Given the description of an element on the screen output the (x, y) to click on. 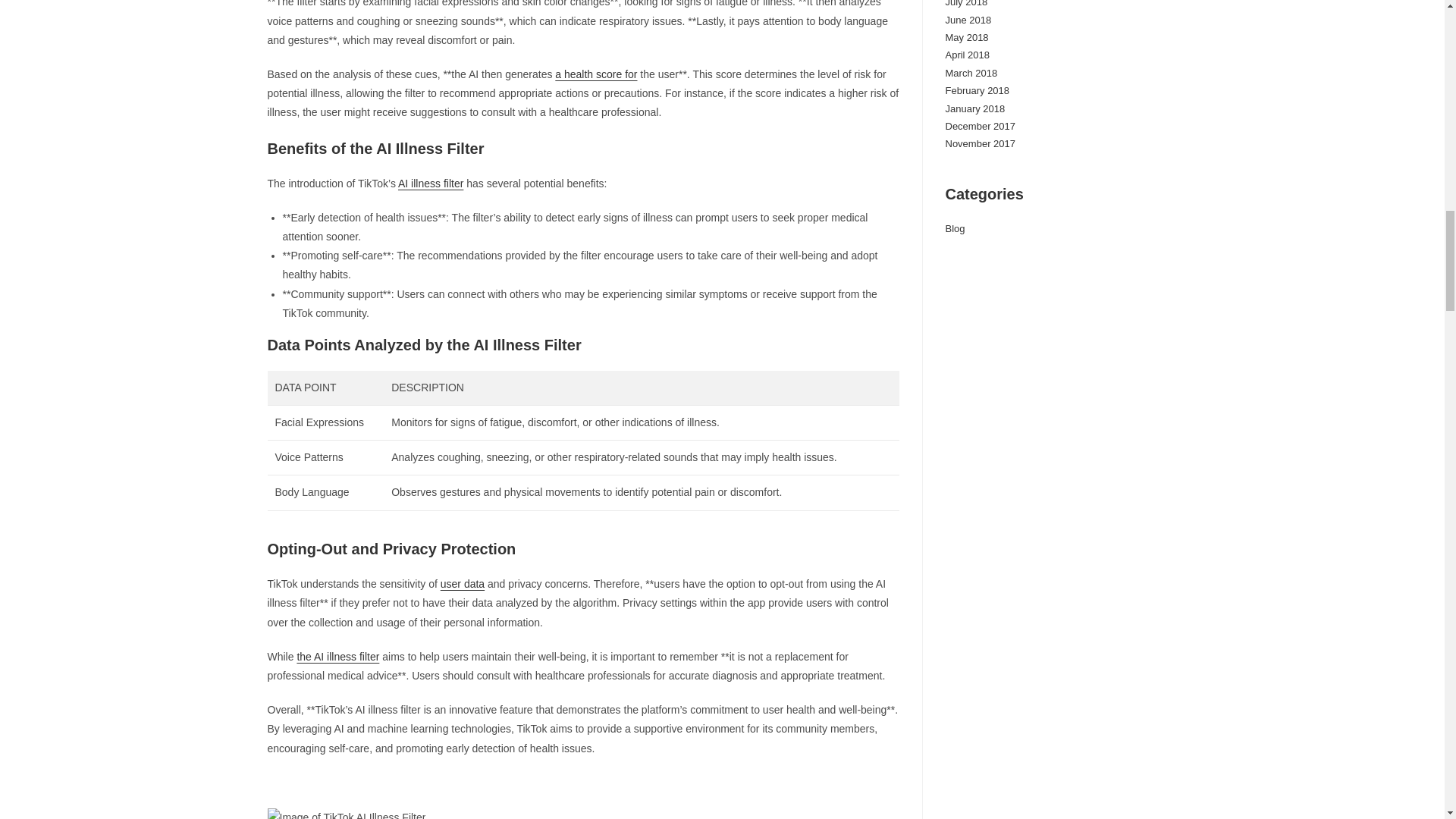
the AI illness filter (337, 656)
AI illness filter (430, 183)
TikTok AI Illness Filter (345, 813)
a health score for (595, 73)
user data (462, 583)
